Given the description of an element on the screen output the (x, y) to click on. 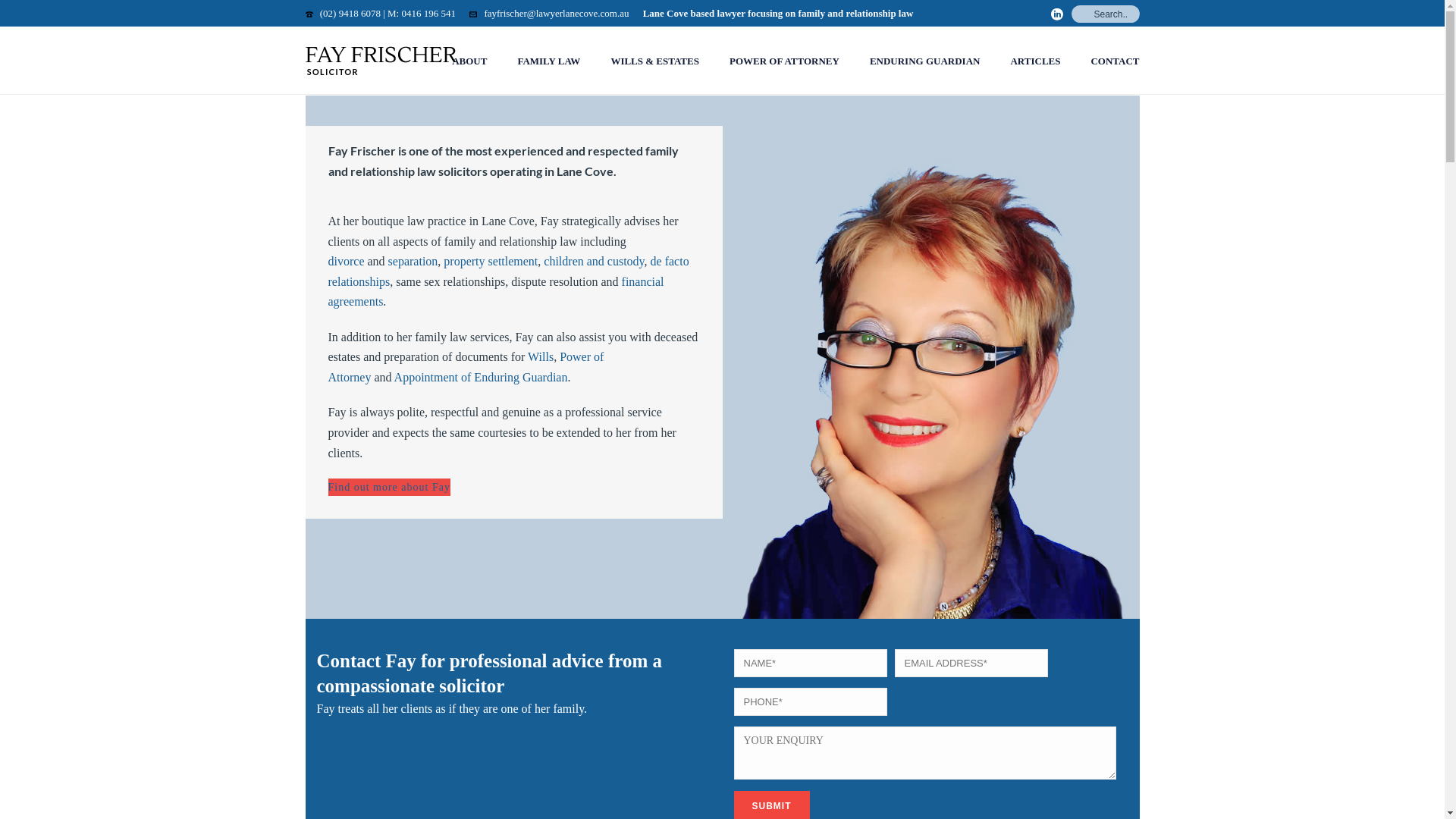
Power of Attorney Element type: text (465, 366)
Find out more about Fay Element type: text (388, 486)
fayfrischer@lawyerlanecove.com.au Element type: text (555, 12)
ABOUT Element type: text (469, 61)
separation Element type: text (413, 260)
divorce Element type: text (345, 260)
children and custody Element type: text (593, 260)
 financial agreements Element type: text (495, 291)
(02) 9418 6078 | M: 0416 196 541 Element type: text (387, 12)
de facto relationships Element type: text (507, 271)
 Wills Element type: text (538, 356)
WILLS & ESTATES Element type: text (654, 61)
property settlement Element type: text (490, 260)
CONTACT Element type: text (1114, 61)
ENDURING GUARDIAN Element type: text (924, 61)
fay-frischer-2 Element type: hover (931, 371)
ARTICLES Element type: text (1034, 61)
FAMILY LAW Element type: text (548, 61)
POWER OF ATTORNEY Element type: text (784, 61)
Sydney based lawyer focusing on family and relationship law Element type: hover (380, 60)
Appointment of Enduring Guardian Element type: text (480, 376)
